Given the description of an element on the screen output the (x, y) to click on. 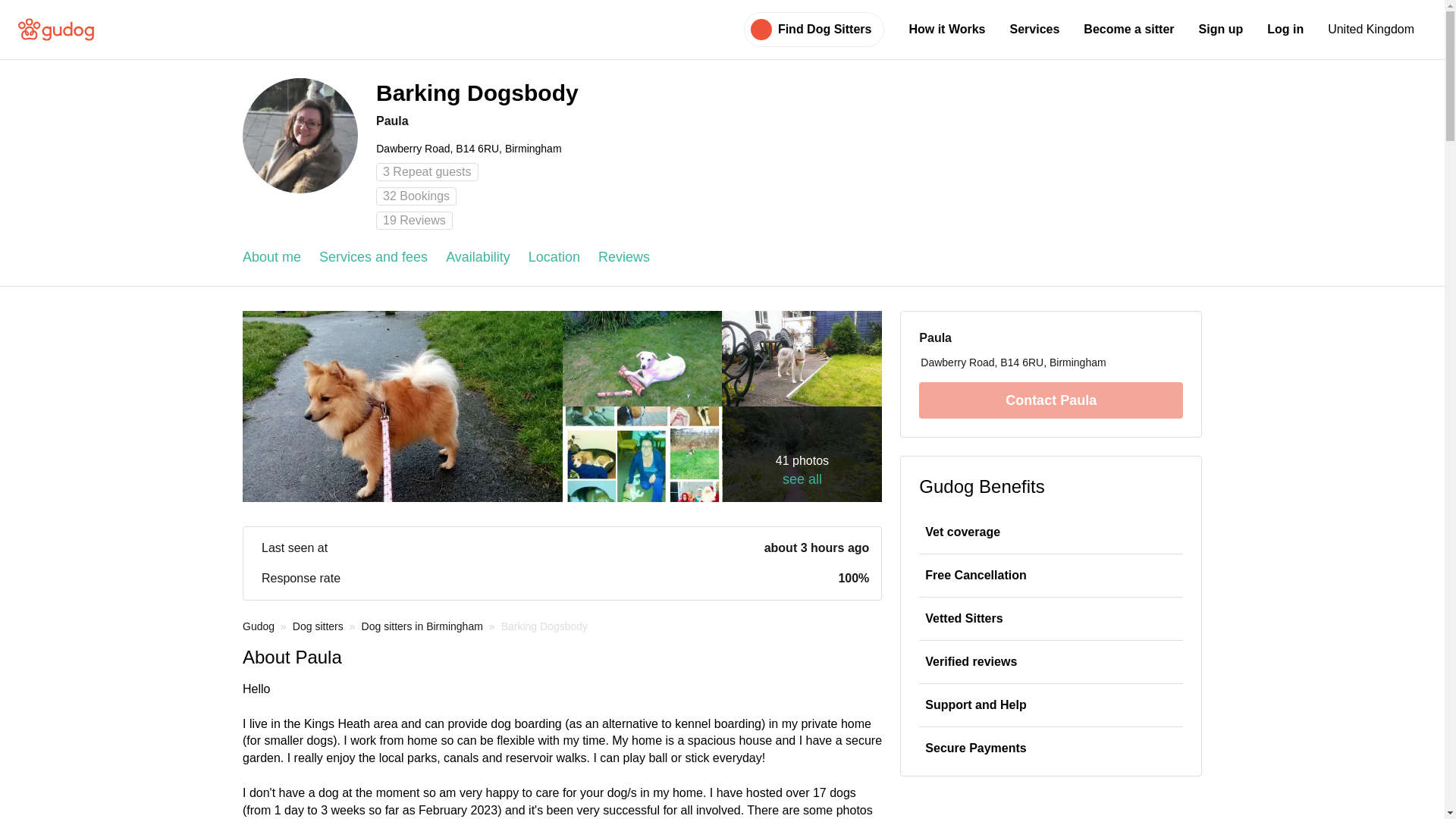
Sign up (1220, 29)
Become a sitter (1128, 29)
Dog sitters in Birmingham (422, 625)
Services (1034, 29)
Location (553, 257)
Contact Paula (1050, 400)
About me (272, 257)
Reviews (623, 257)
Dog sitters (317, 625)
Find Dog Sitters (824, 29)
